Given the description of an element on the screen output the (x, y) to click on. 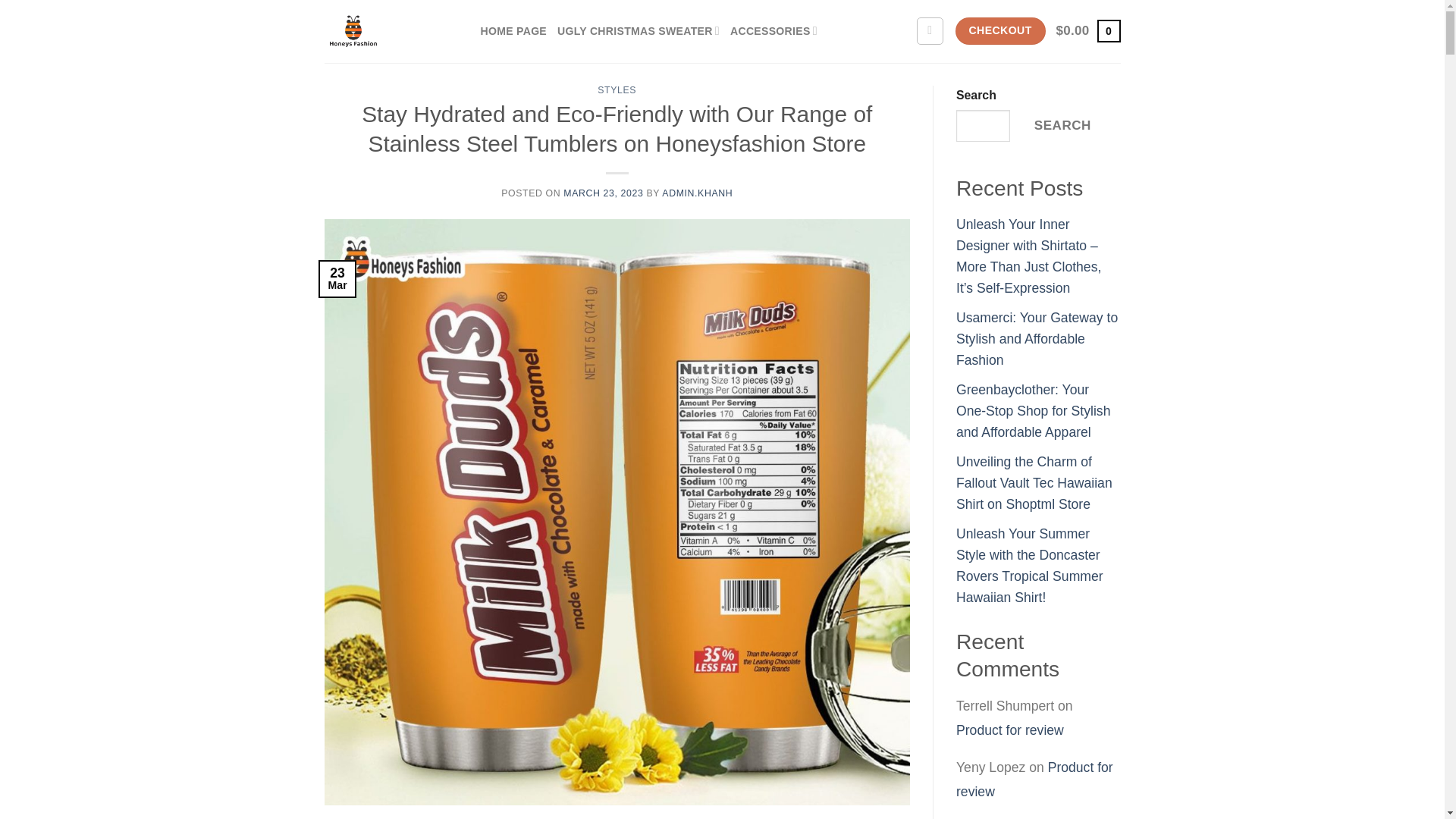
CHECKOUT (1000, 31)
UGLY CHRISTMAS SWEATER (638, 31)
Honeysfashion - Find what you need here (391, 31)
STYLES (616, 90)
ADMIN.KHANH (697, 193)
HOME PAGE (513, 31)
ACCESSORIES (773, 31)
MARCH 23, 2023 (603, 193)
Cart (1089, 30)
